Given the description of an element on the screen output the (x, y) to click on. 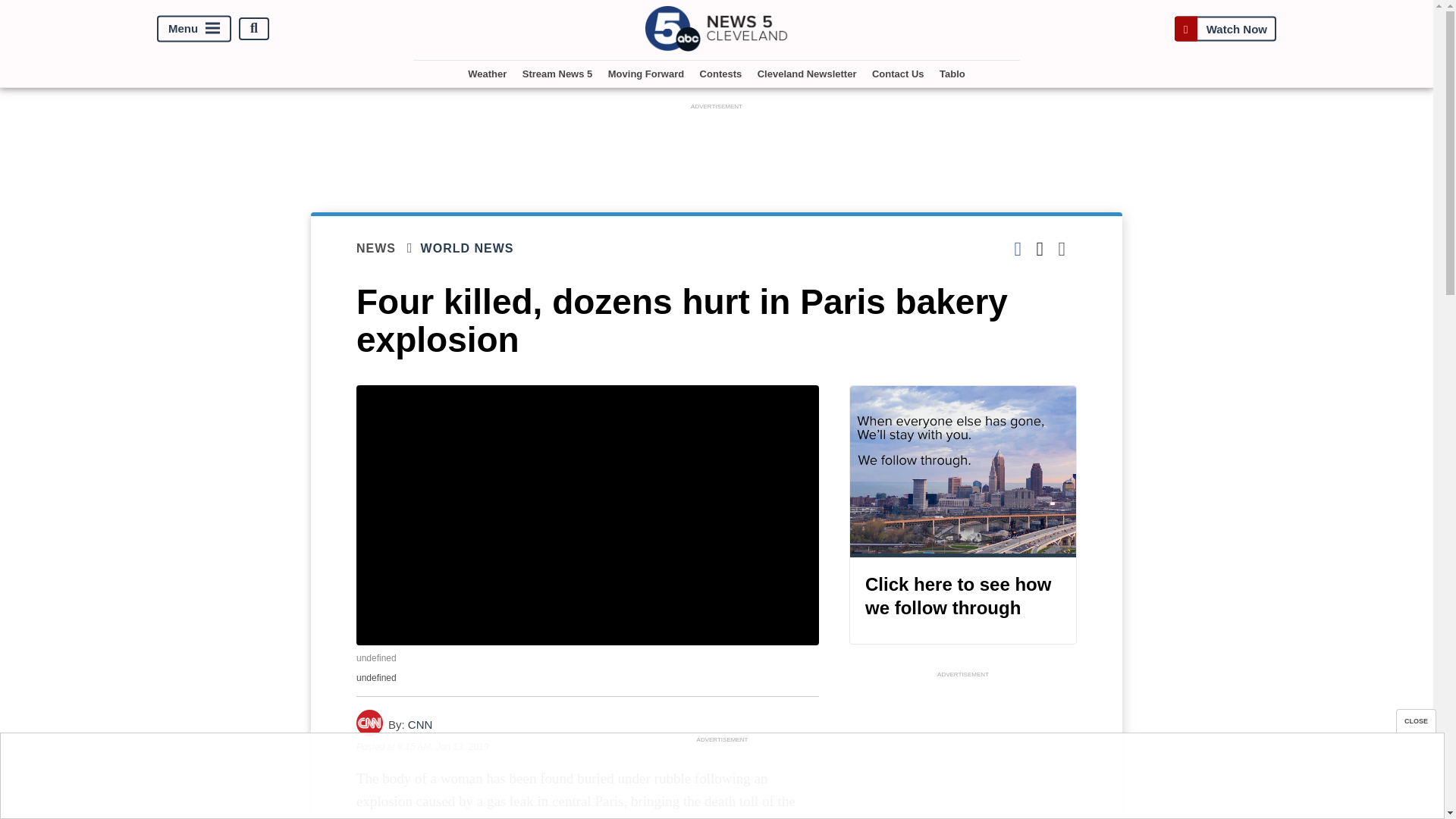
Watch Now (1224, 28)
3rd party ad content (962, 750)
3rd party ad content (721, 780)
Menu (194, 28)
3rd party ad content (716, 147)
